Given the description of an element on the screen output the (x, y) to click on. 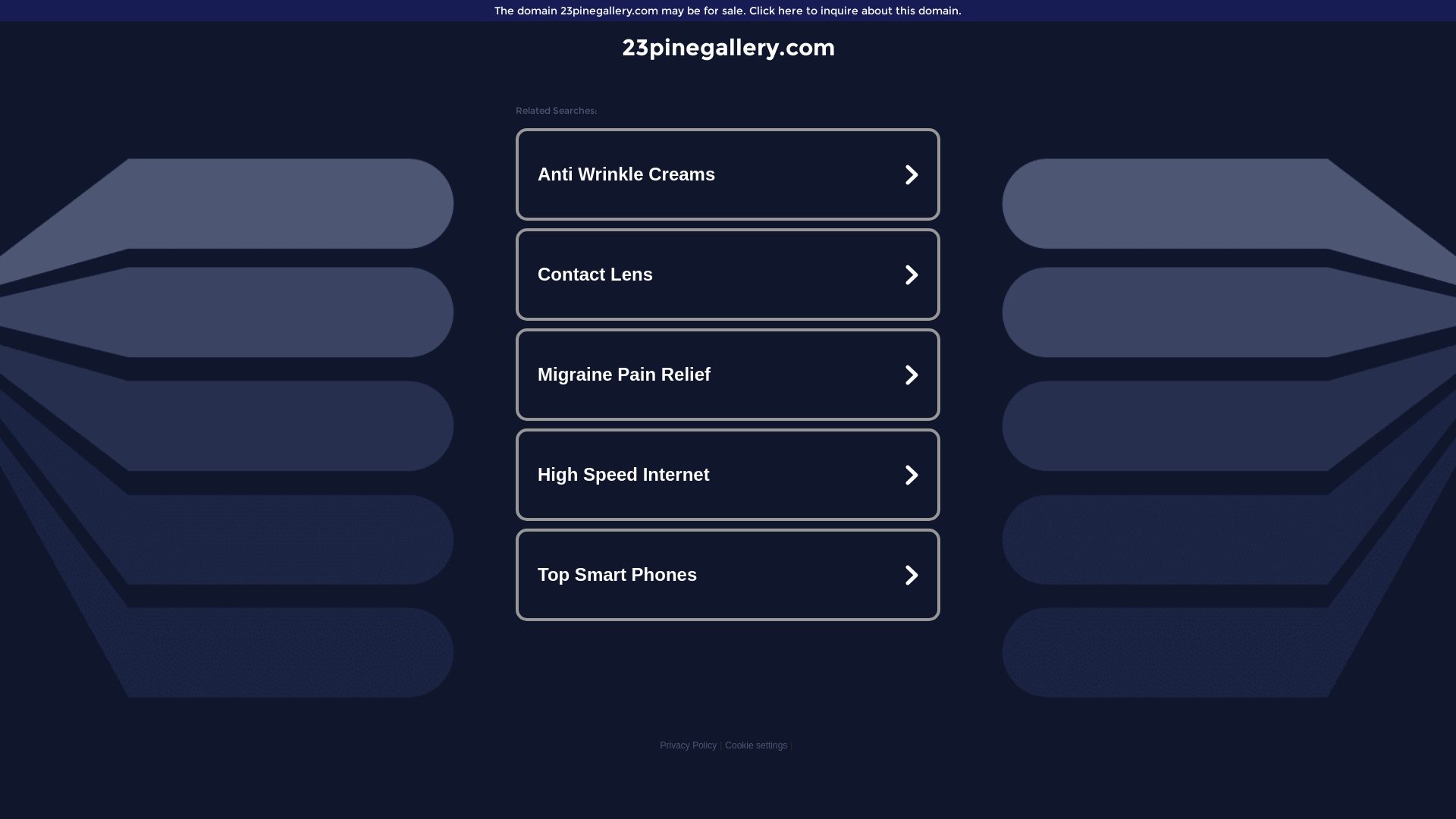
Migraine Pain Relief Element type: text (727, 374)
Cookie settings Element type: text (755, 745)
Privacy Policy Element type: text (687, 745)
Anti Wrinkle Creams Element type: text (727, 174)
High Speed Internet Element type: text (727, 474)
Top Smart Phones Element type: text (727, 574)
Contact Lens Element type: text (727, 274)
23pinegallery.com Element type: text (727, 47)
